Given the description of an element on the screen output the (x, y) to click on. 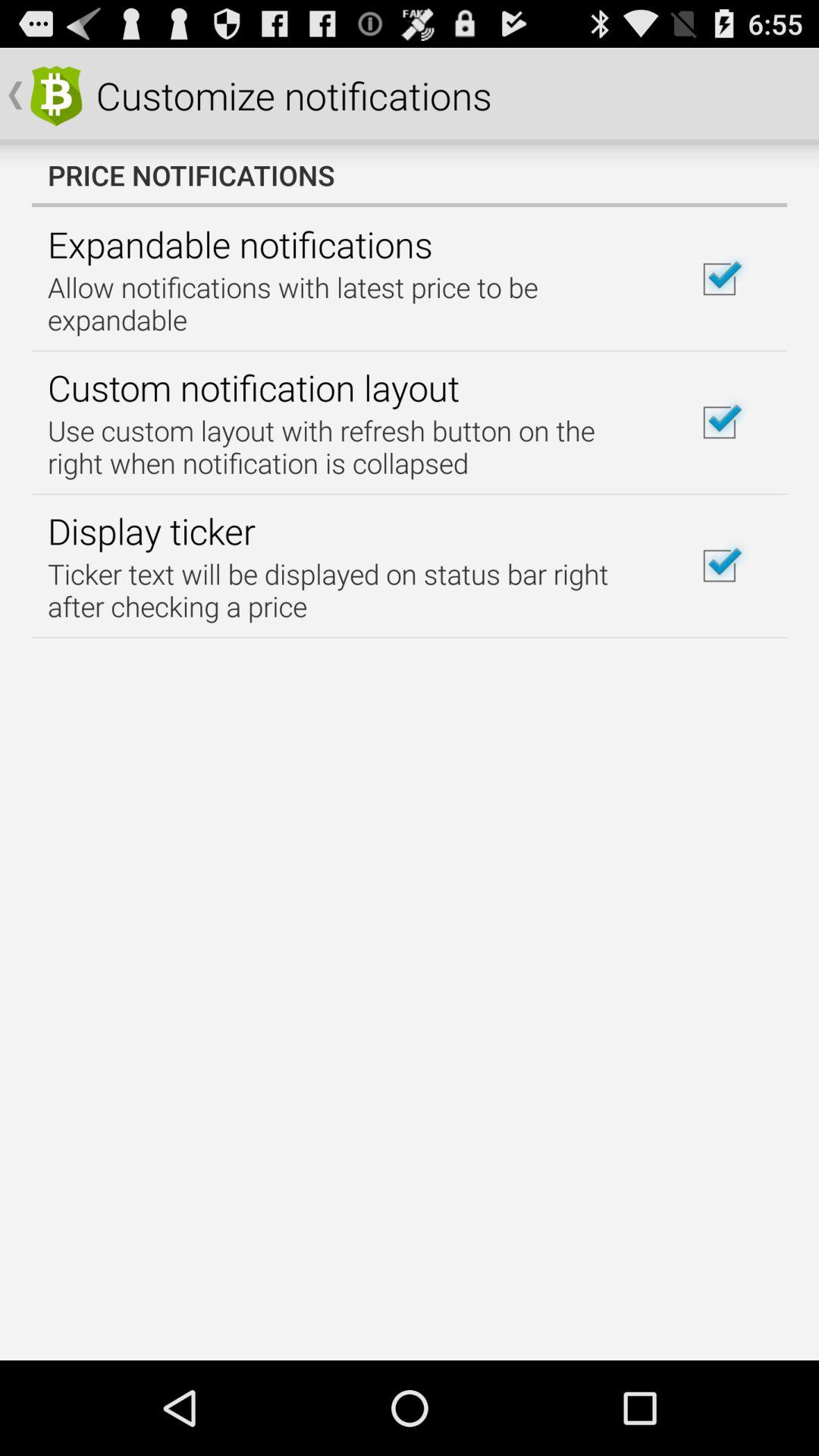
click icon above the custom notification layout icon (351, 303)
